Given the description of an element on the screen output the (x, y) to click on. 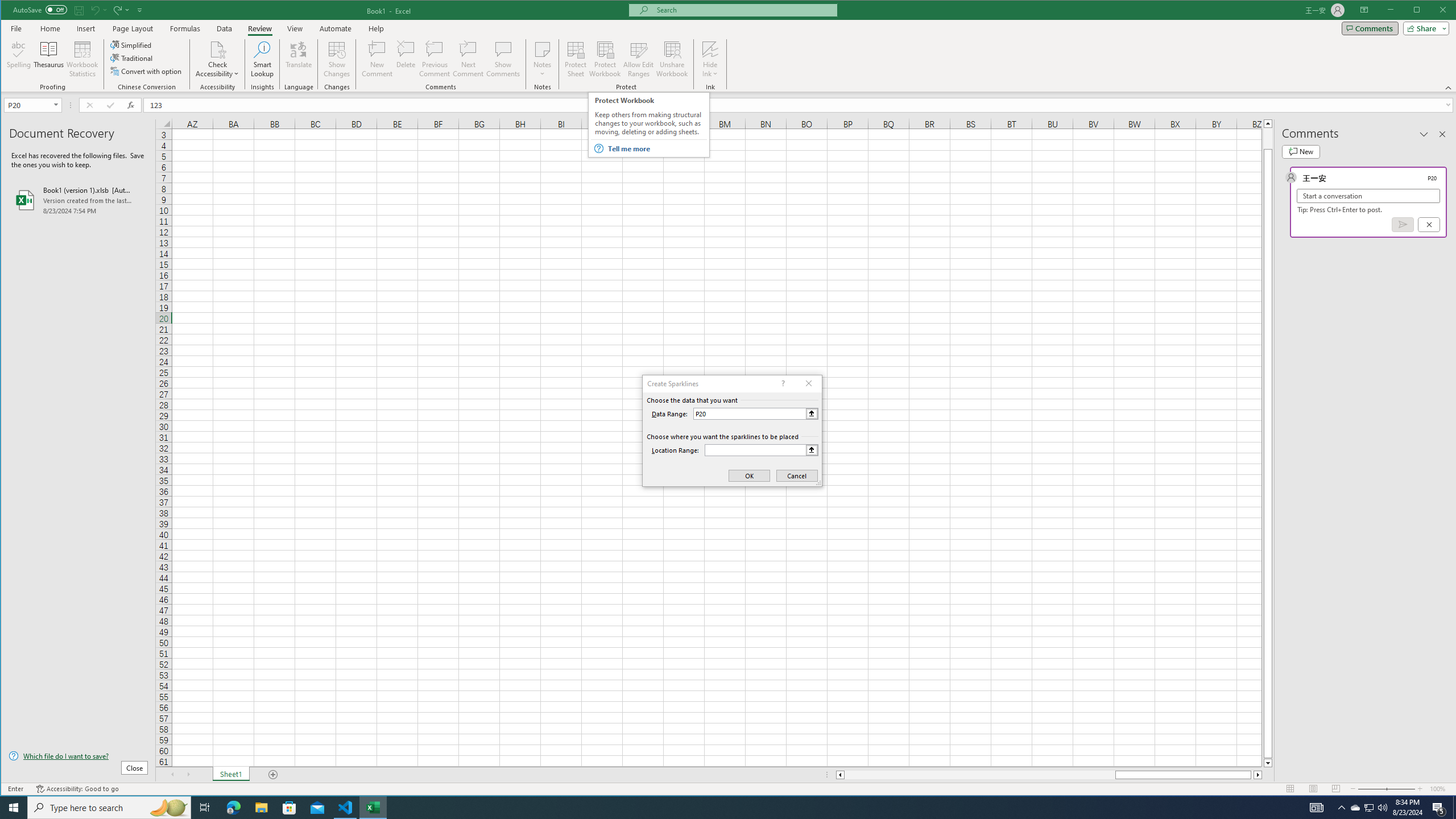
Hide Ink (710, 48)
